Given the description of an element on the screen output the (x, y) to click on. 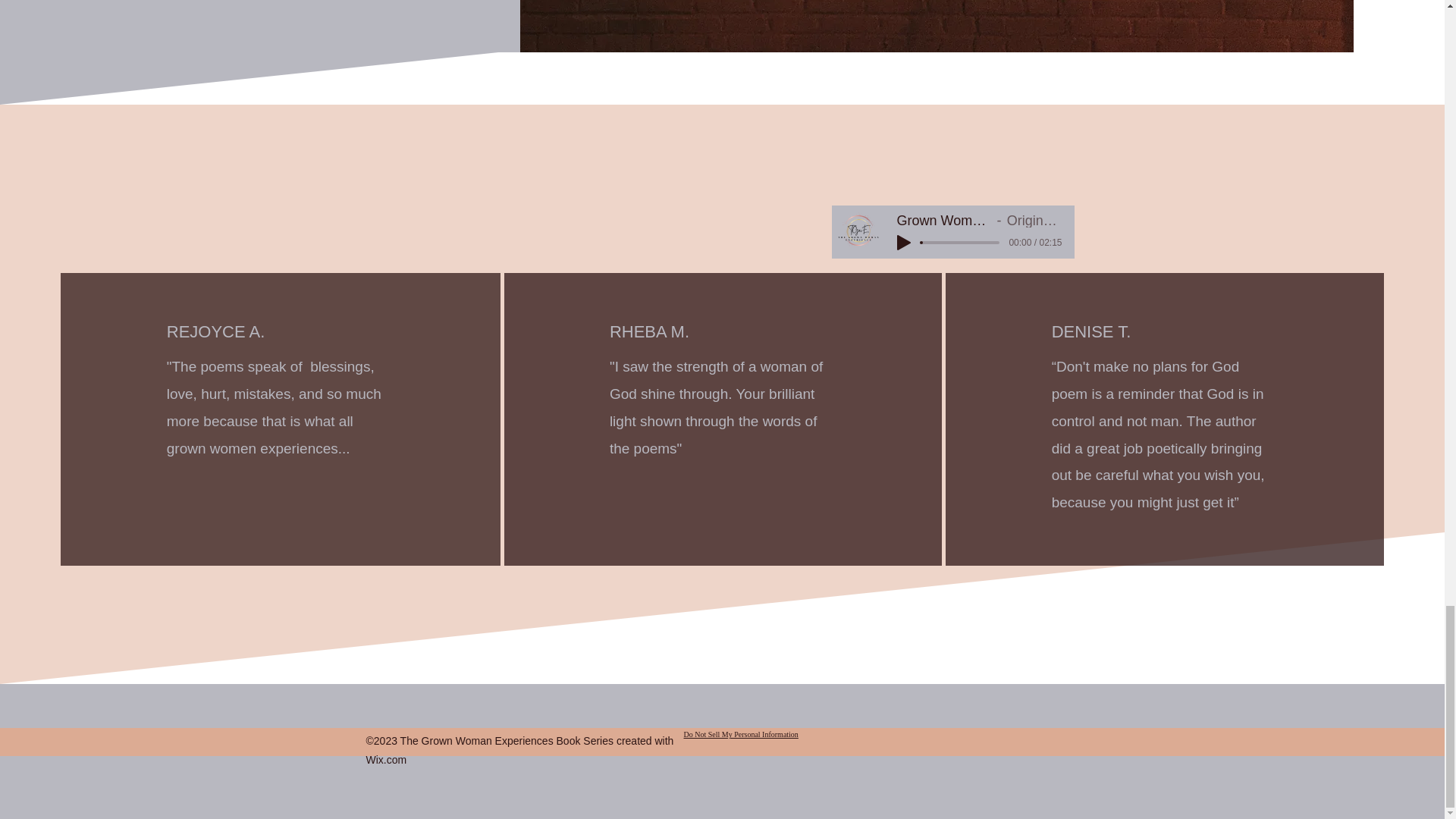
0 (959, 242)
Do Not Sell My Personal Information (740, 734)
